Given the description of an element on the screen output the (x, y) to click on. 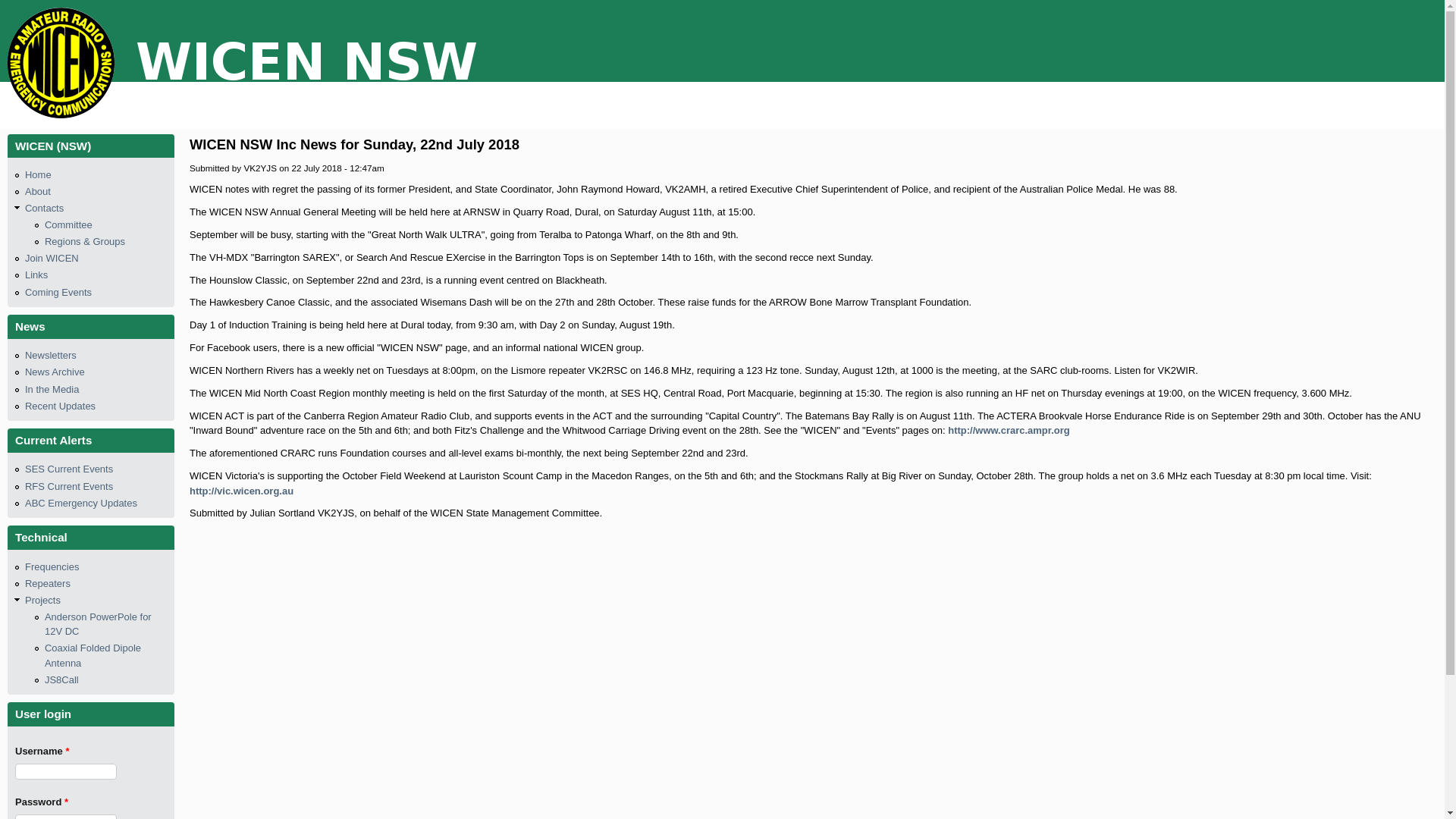
Repeaters Element type: text (47, 583)
About Element type: text (37, 191)
Committee Element type: text (68, 224)
http://www.crarc.ampr.org Element type: text (1008, 430)
Links Element type: text (36, 274)
In the Media Element type: text (51, 389)
Skip to main content Element type: text (711, 0)
Home page Element type: hover (241, 114)
Anderson PowerPole for 12V DC Element type: text (97, 624)
Projects Element type: text (42, 599)
http://vic.wicen.org.au Element type: text (241, 490)
Coaxial Folded Dipole Antenna Element type: text (92, 655)
Contacts Element type: text (44, 207)
News Archive Element type: text (54, 371)
Coming Events Element type: text (58, 292)
JS8Call Element type: text (61, 679)
Regions & Groups Element type: text (84, 241)
Home Element type: text (38, 174)
Recent Updates Element type: text (60, 405)
SES Current Events Element type: text (68, 468)
RFS Current Events Element type: text (68, 486)
ABC Emergency Updates Element type: text (81, 502)
Newsletters Element type: text (50, 354)
Join WICEN Element type: text (51, 257)
Frequencies Element type: text (51, 566)
